Given the description of an element on the screen output the (x, y) to click on. 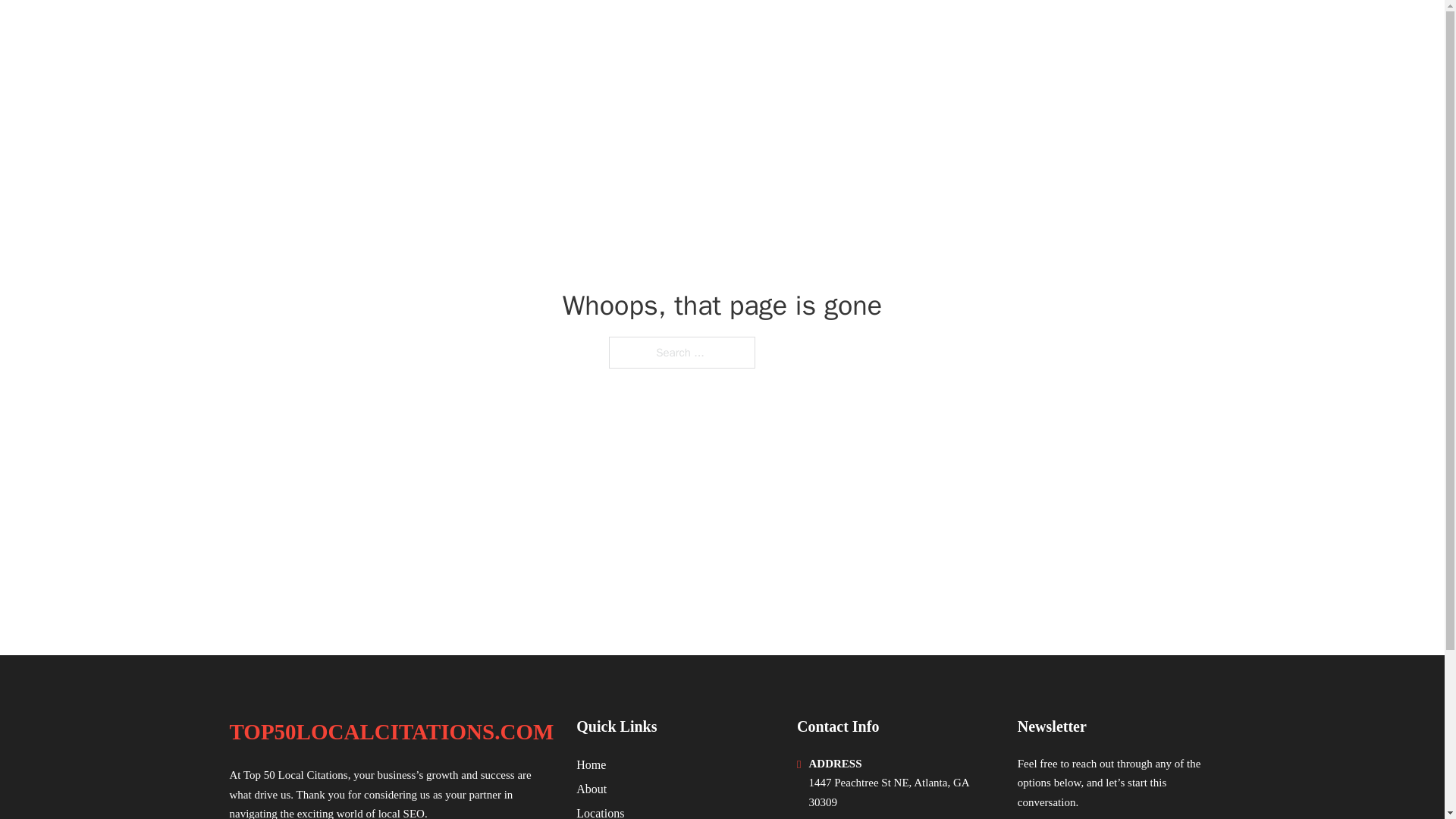
TOP50LOCALCITATIONS.COM (407, 31)
Locations (600, 811)
About (591, 788)
HOME (1025, 31)
Home (590, 764)
TOP50LOCALCITATIONS.COM (390, 732)
LOCATIONS (1098, 31)
